Given the description of an element on the screen output the (x, y) to click on. 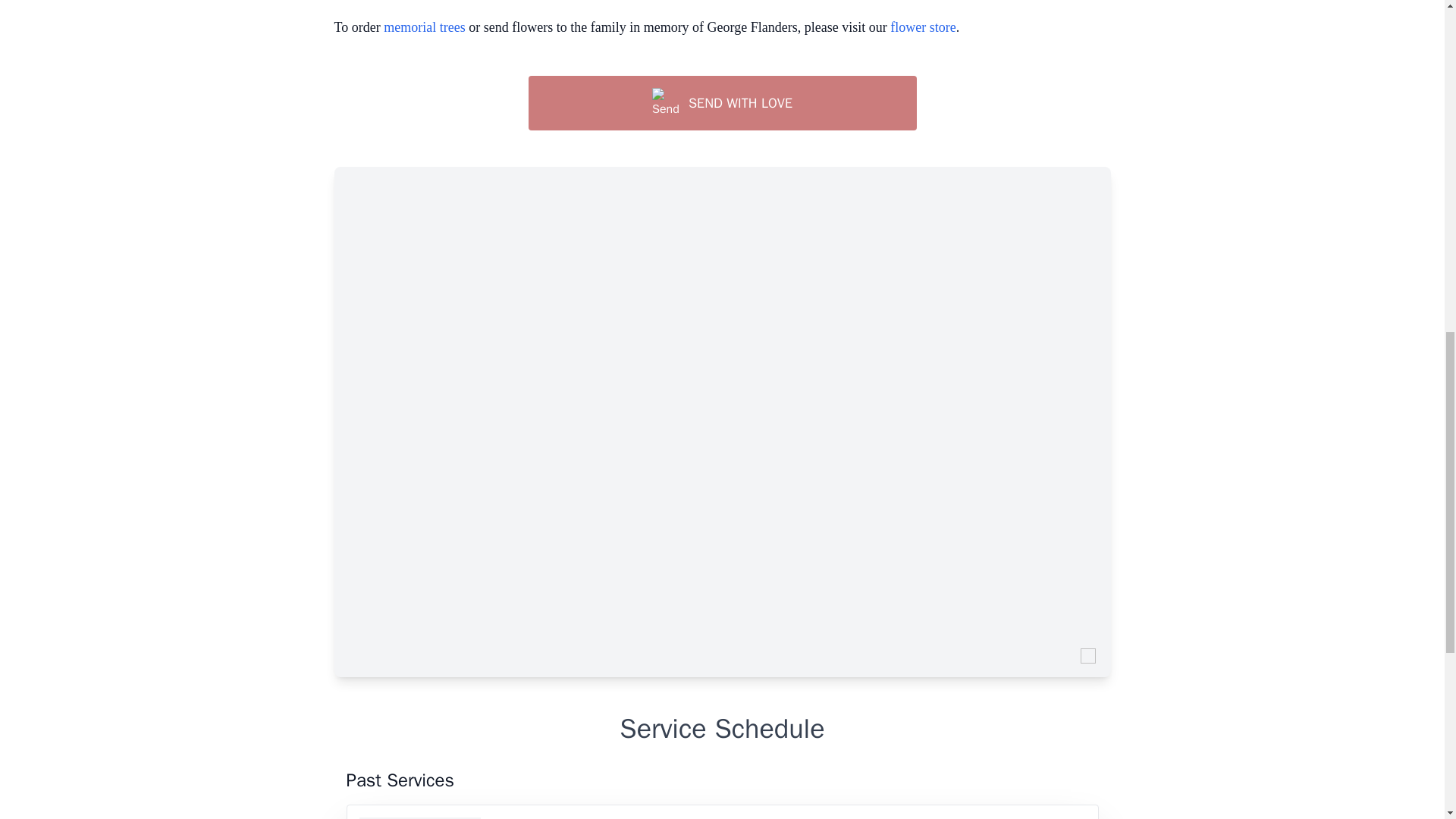
SEND WITH LOVE (721, 103)
memorial trees (424, 27)
flower store (922, 27)
